Given the description of an element on the screen output the (x, y) to click on. 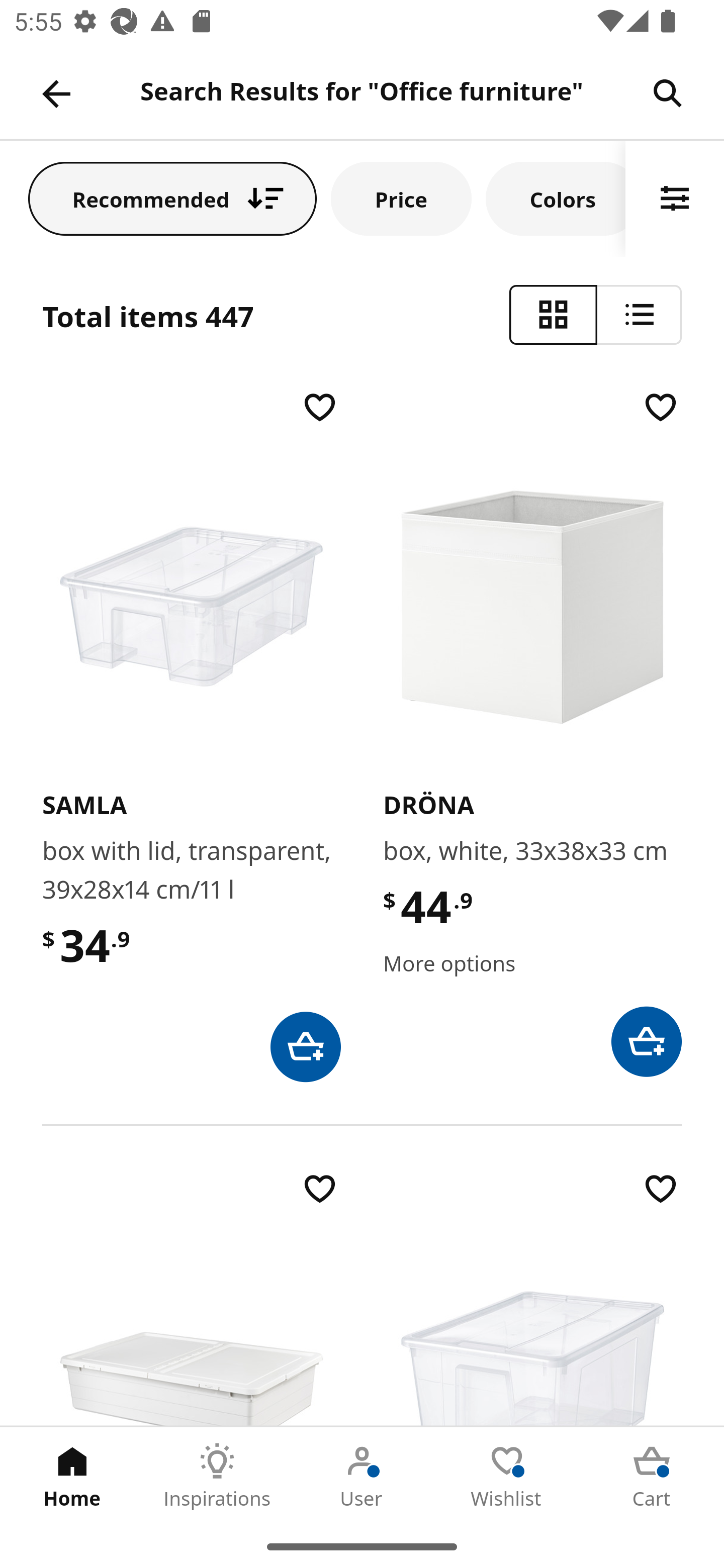
Recommended (172, 198)
Price (400, 198)
Colors (555, 198)
Home
Tab 1 of 5 (72, 1476)
Inspirations
Tab 2 of 5 (216, 1476)
